Given the description of an element on the screen output the (x, y) to click on. 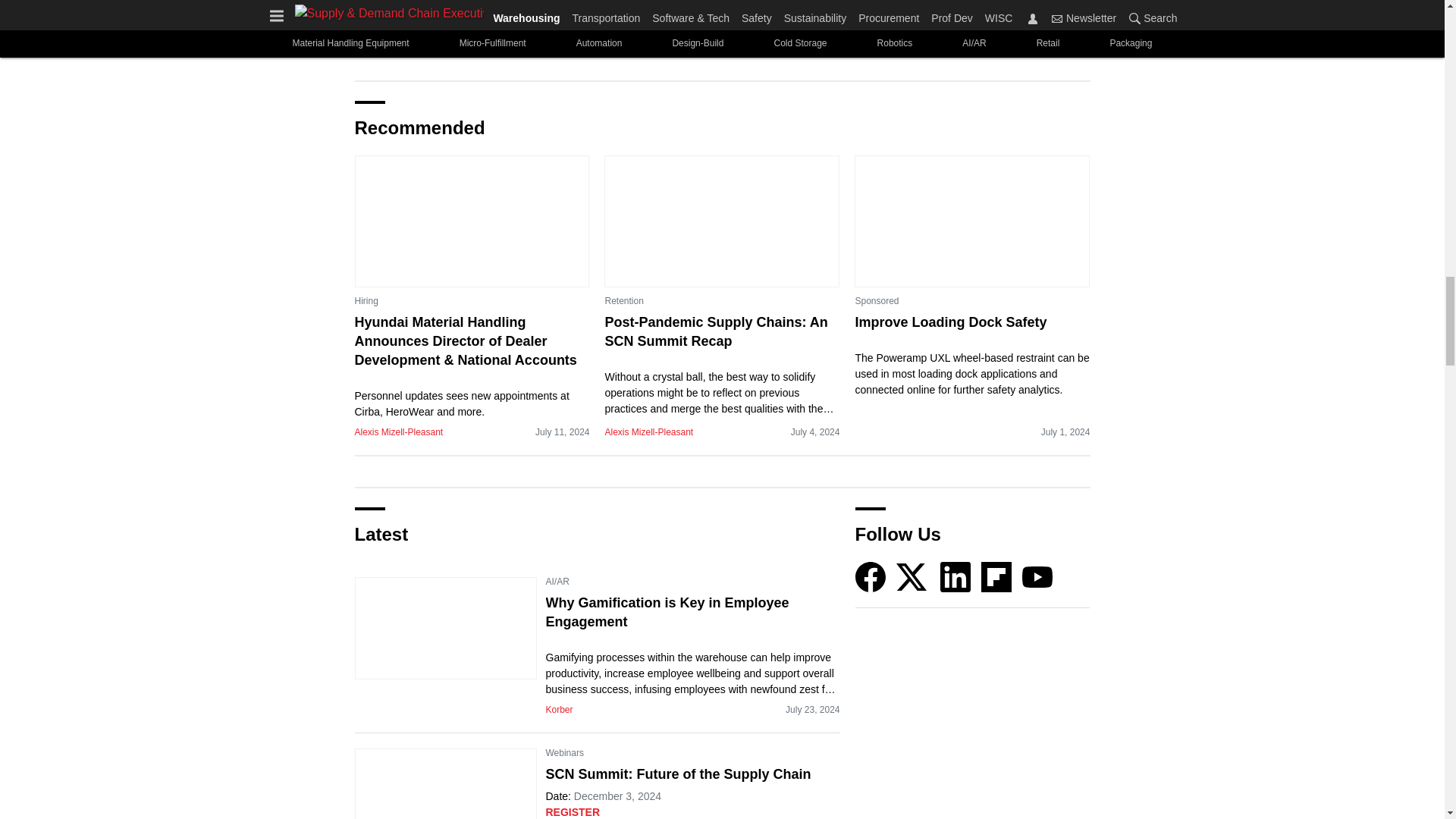
Webinars (564, 752)
Facebook icon (870, 576)
Sponsored (876, 300)
Flipboard icon (996, 576)
LinkedIn icon (955, 576)
Twitter X icon (911, 576)
YouTube icon (1037, 576)
